Given the description of an element on the screen output the (x, y) to click on. 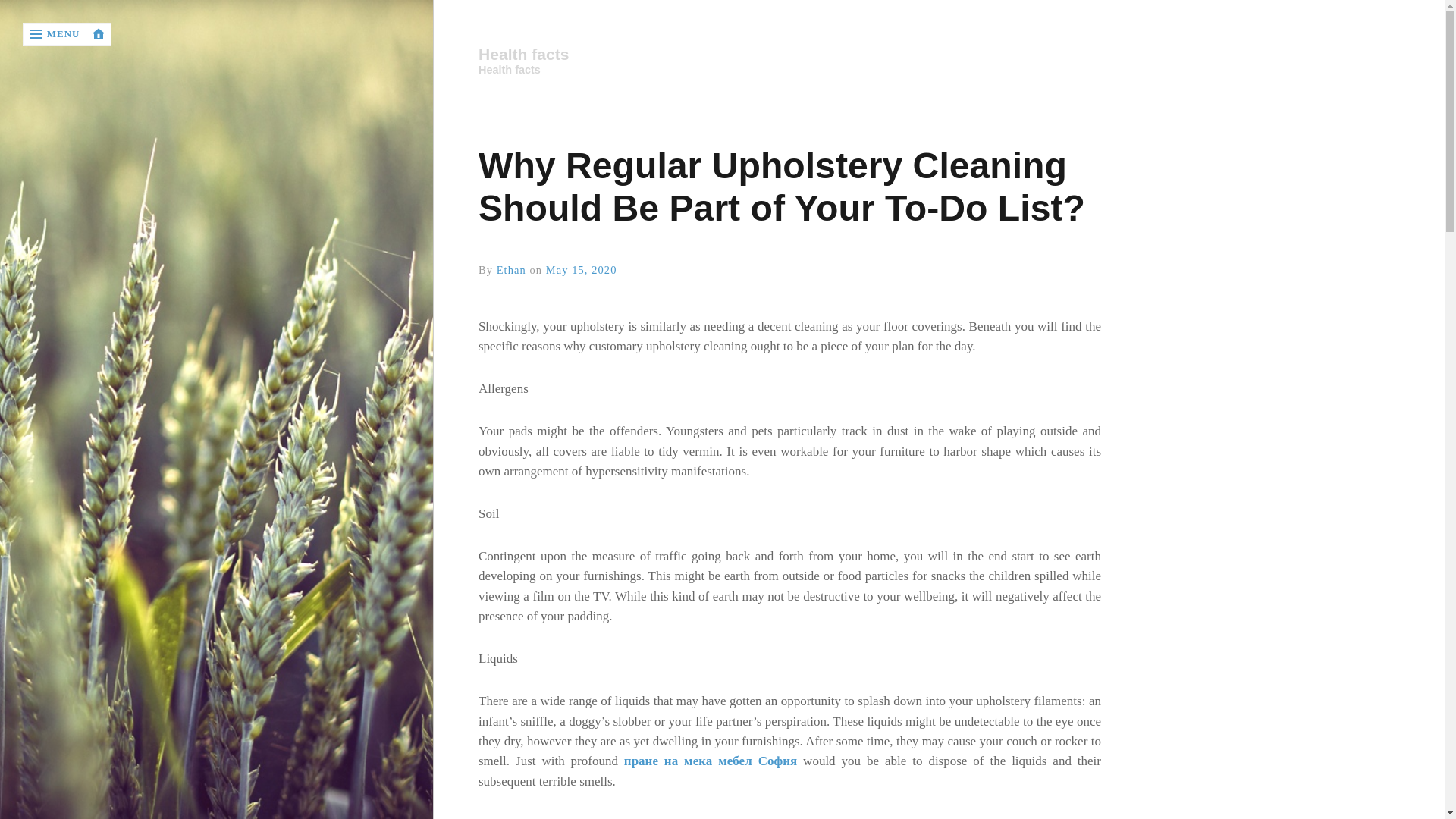
May 15, 2020 (581, 269)
4:36 am (581, 269)
View all posts by Ethan (510, 269)
Health facts (788, 54)
MENU (55, 33)
Ethan (510, 269)
Home (789, 54)
